Given the description of an element on the screen output the (x, y) to click on. 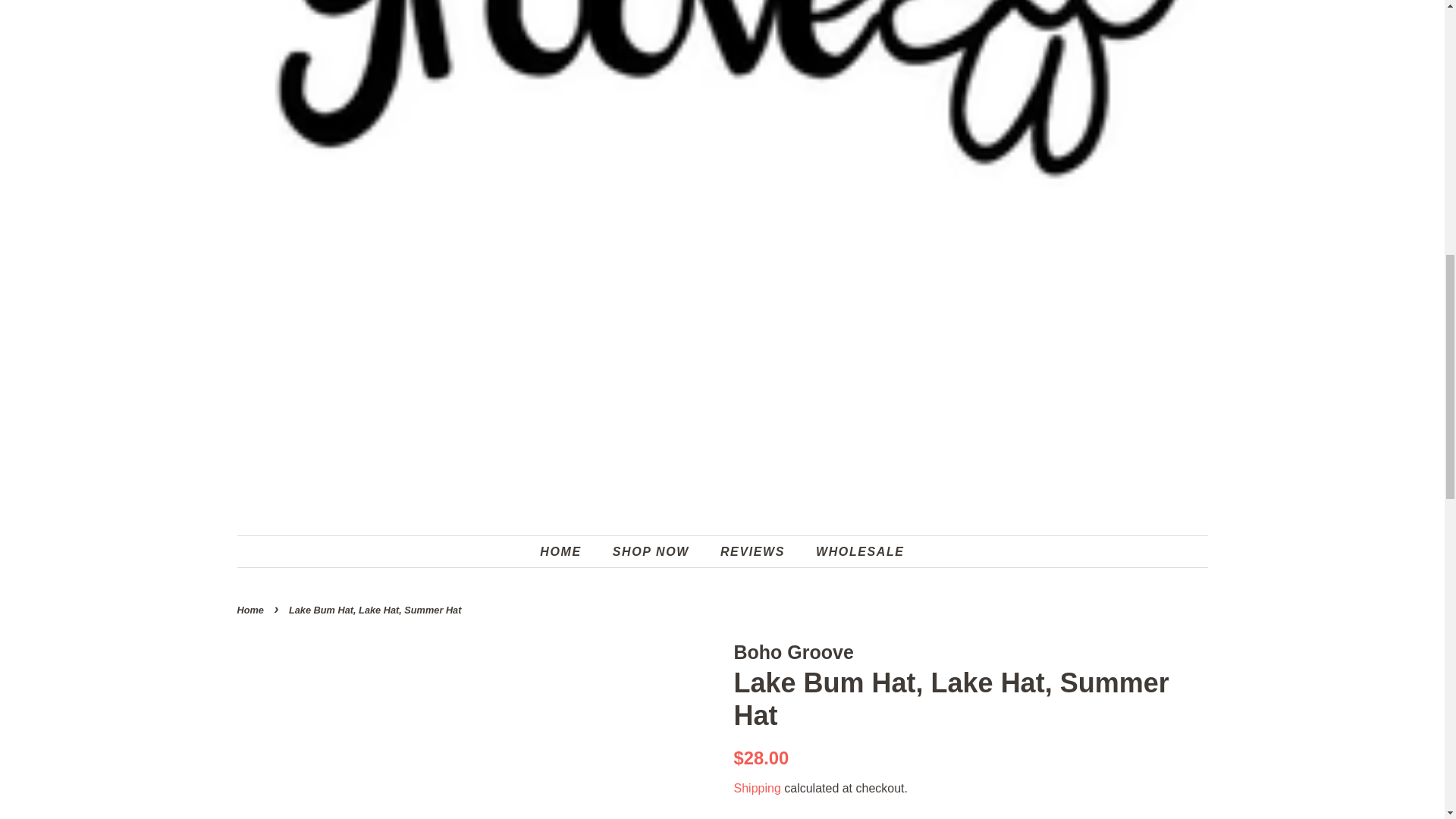
SHOP NOW (652, 551)
HOME (567, 551)
WHOLESALE (854, 551)
Back to the frontpage (250, 609)
Home (250, 609)
REVIEWS (754, 551)
